Given the description of an element on the screen output the (x, y) to click on. 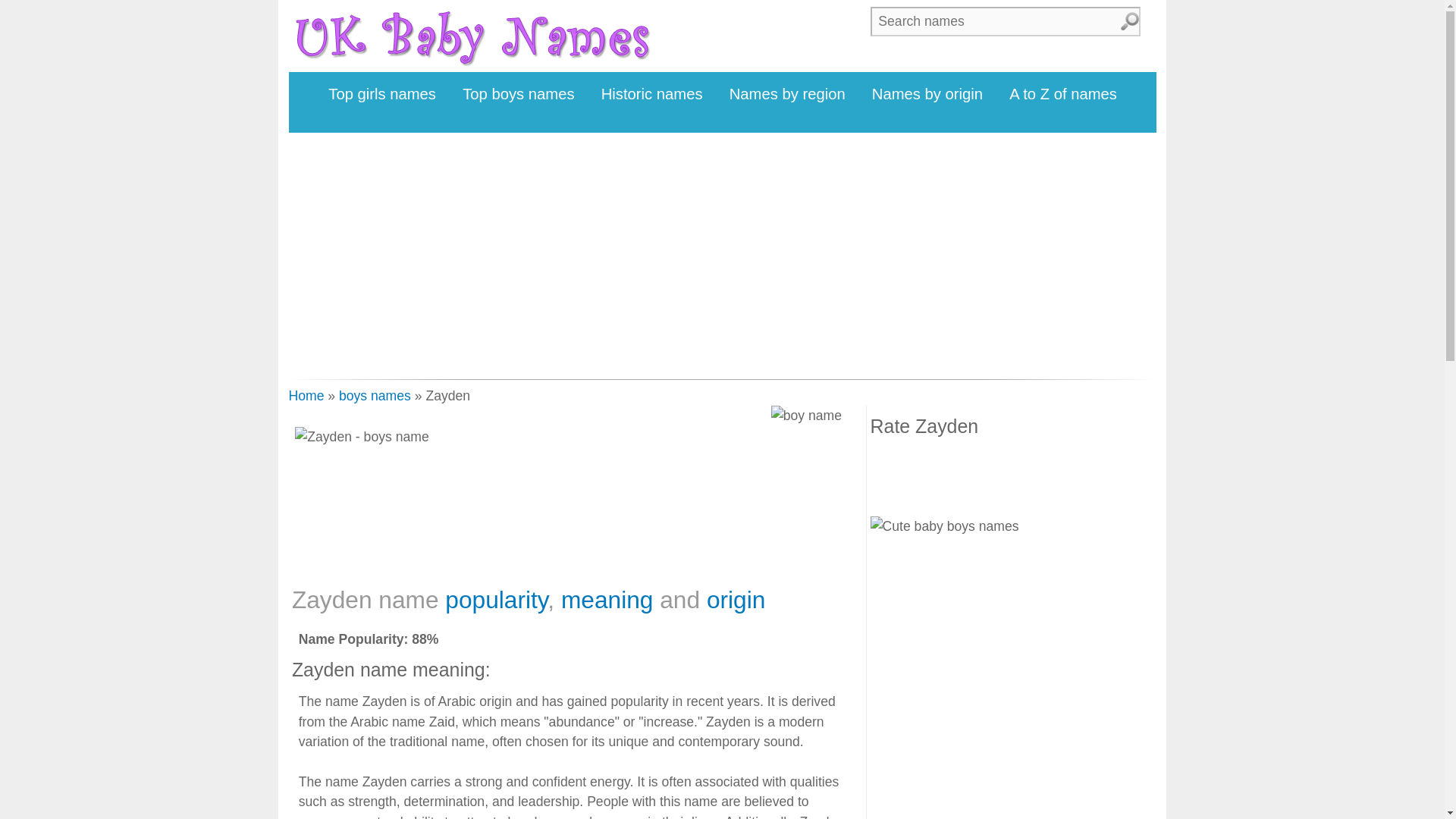
meaning (606, 599)
Names by origin (927, 94)
A to Z of names (1063, 94)
Historic names (652, 94)
Top boys names (518, 94)
Home (305, 395)
Names by region (787, 94)
popularity (496, 599)
Top girls names (382, 94)
origin (735, 599)
